Given the description of an element on the screen output the (x, y) to click on. 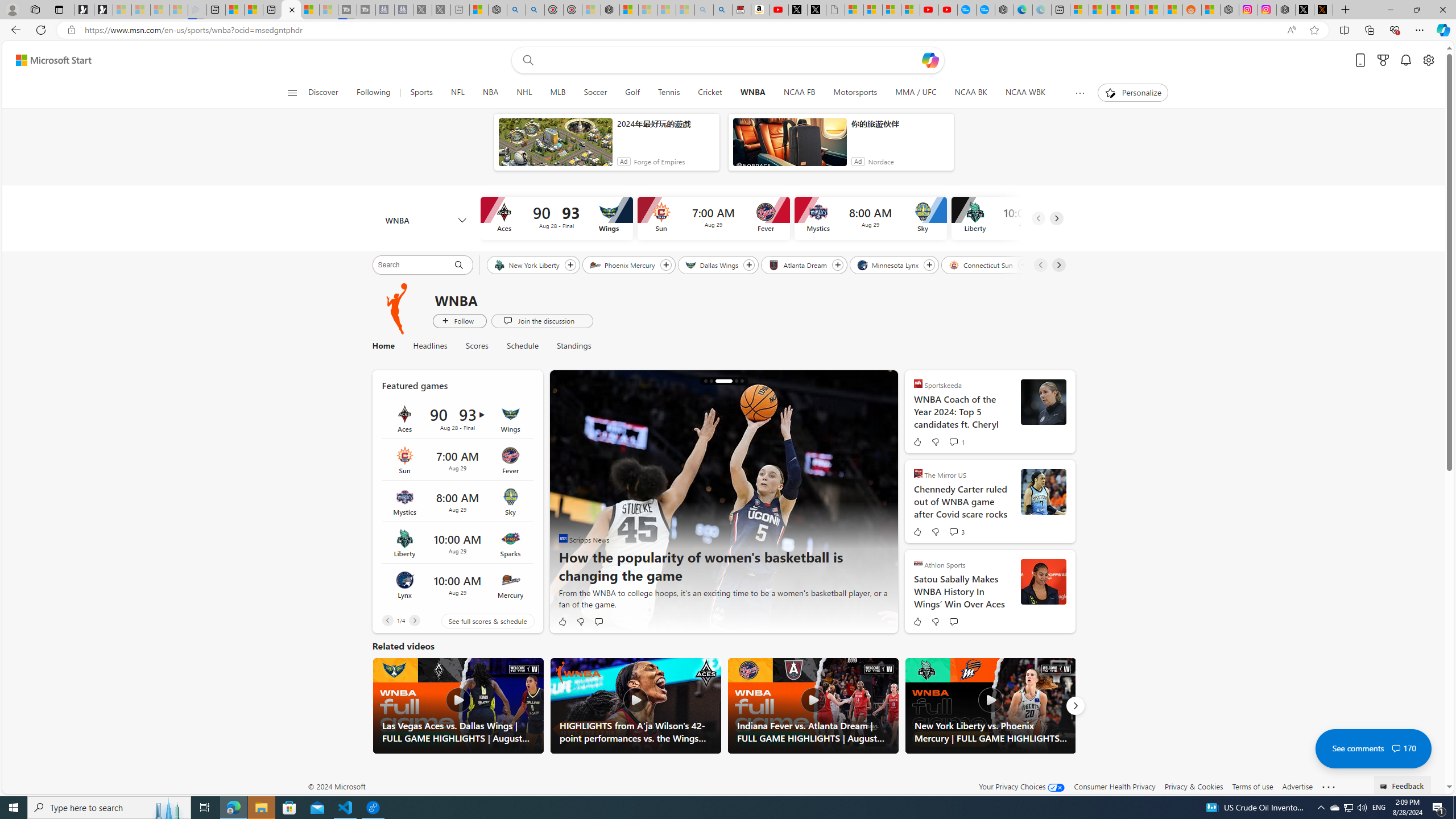
Mystics vs Sky Time 8:00 AM Date Aug 29 (456, 501)
poe - Search (515, 9)
Consumer Health Privacy (1115, 785)
Amazon Echo Dot PNG - Search Images (722, 9)
NBA (490, 92)
Microsoft rewards (1382, 60)
WNBA (425, 220)
MMA / UFC (916, 92)
Sports (421, 92)
Follow WNBA 2024 (459, 320)
MLB (557, 92)
